Given the description of an element on the screen output the (x, y) to click on. 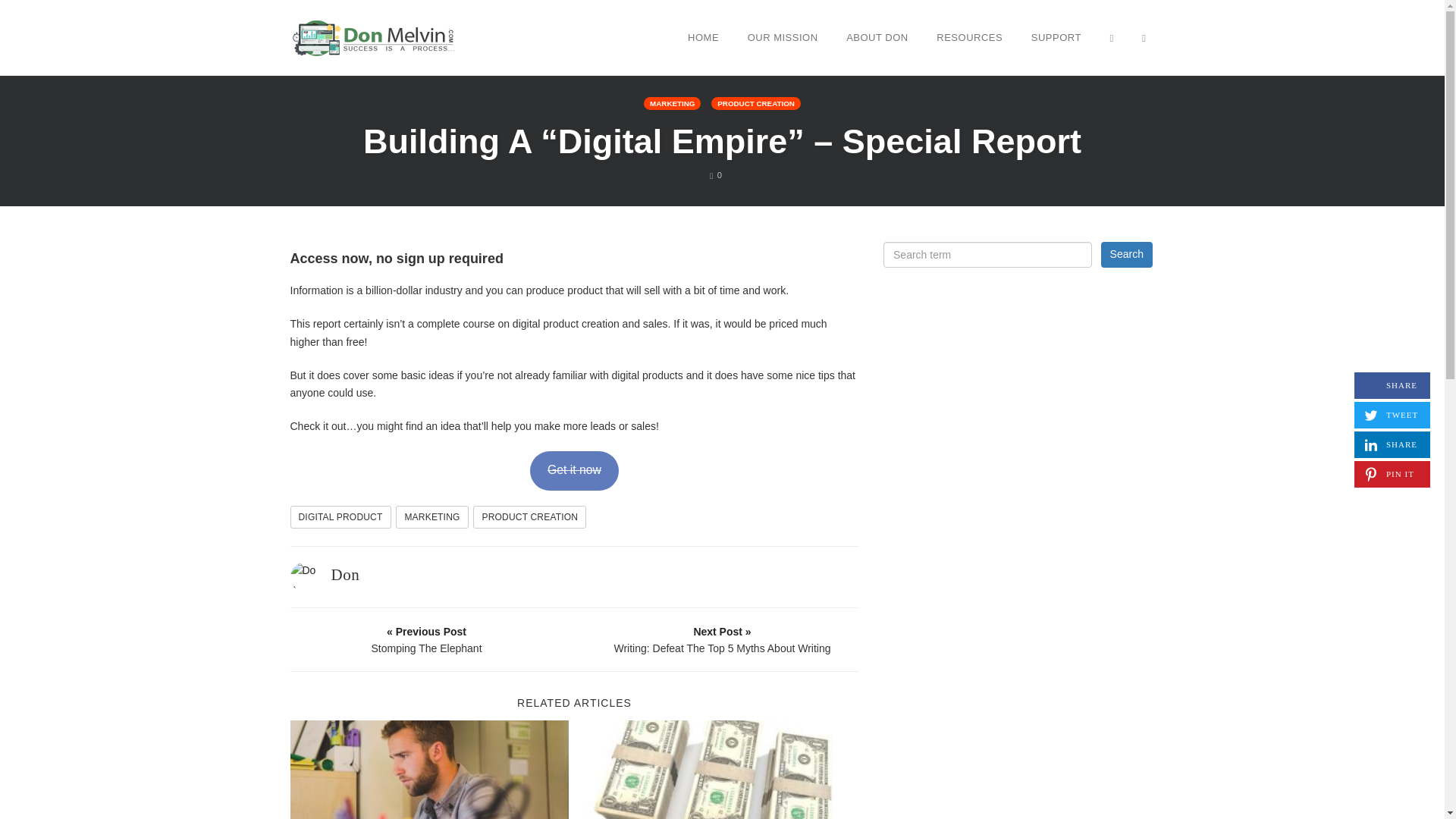
OUR MISSION (783, 37)
SUPPORT (1056, 37)
PRODUCT CREATION (755, 103)
DIGITAL PRODUCT (1391, 444)
marketing Tag (339, 517)
product creation Tag (431, 517)
Don (529, 517)
MARKETING (344, 574)
Don Melvin (431, 517)
OPEN SEARCH FORM (373, 37)
PRODUCT CREATION (1144, 37)
RESOURCES (529, 517)
Stomping The Elephant (969, 37)
Search (427, 639)
